Given the description of an element on the screen output the (x, y) to click on. 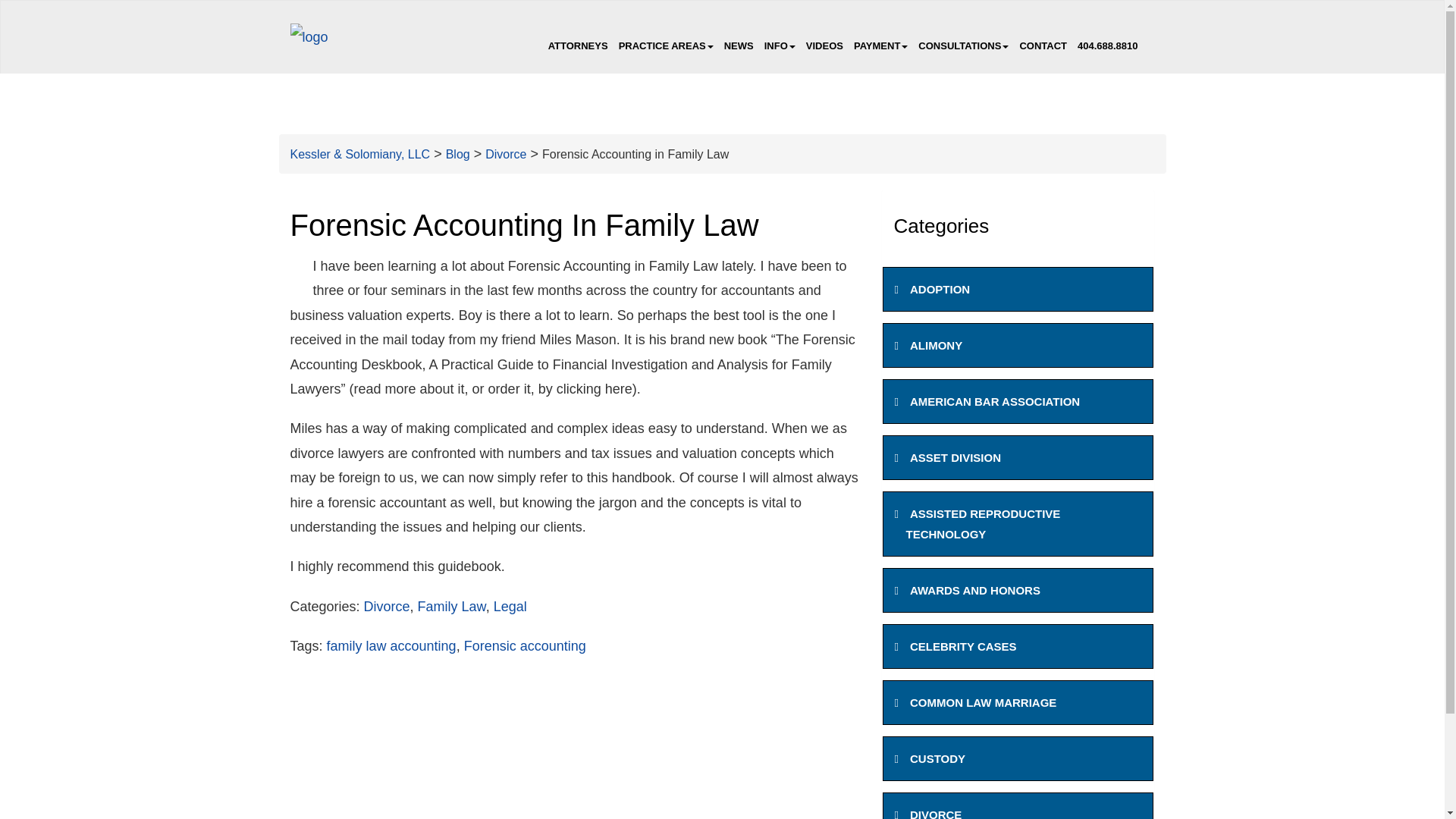
Go to Blog. (457, 154)
Go to the Divorce Category archives. (504, 154)
PRACTICE AREAS (665, 46)
NEWS (738, 46)
PAYMENT (880, 46)
VIDEOS (824, 46)
INFO (779, 46)
ATTORNEYS (577, 46)
